Given the description of an element on the screen output the (x, y) to click on. 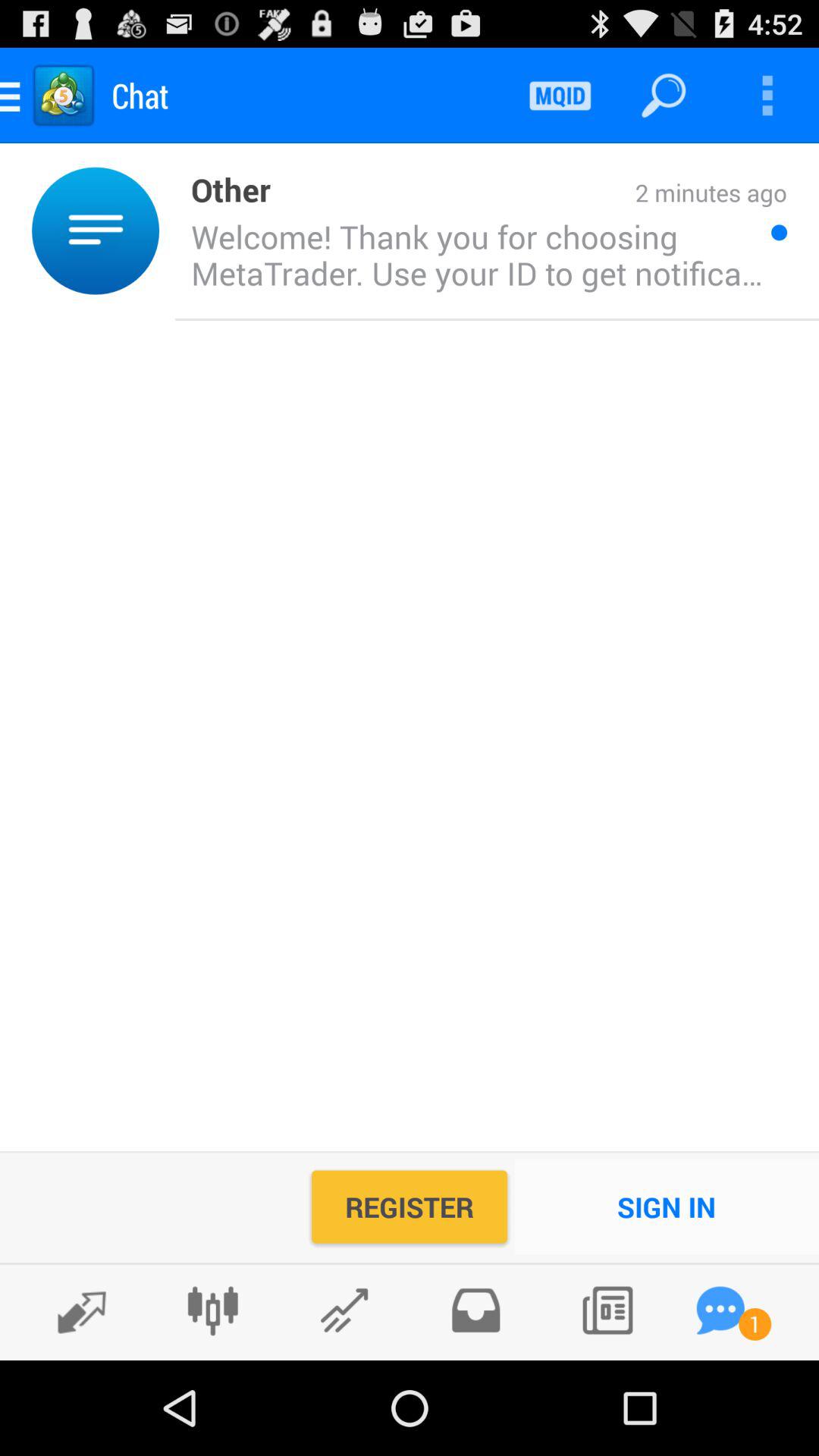
open item above the welcome thank you (222, 188)
